Given the description of an element on the screen output the (x, y) to click on. 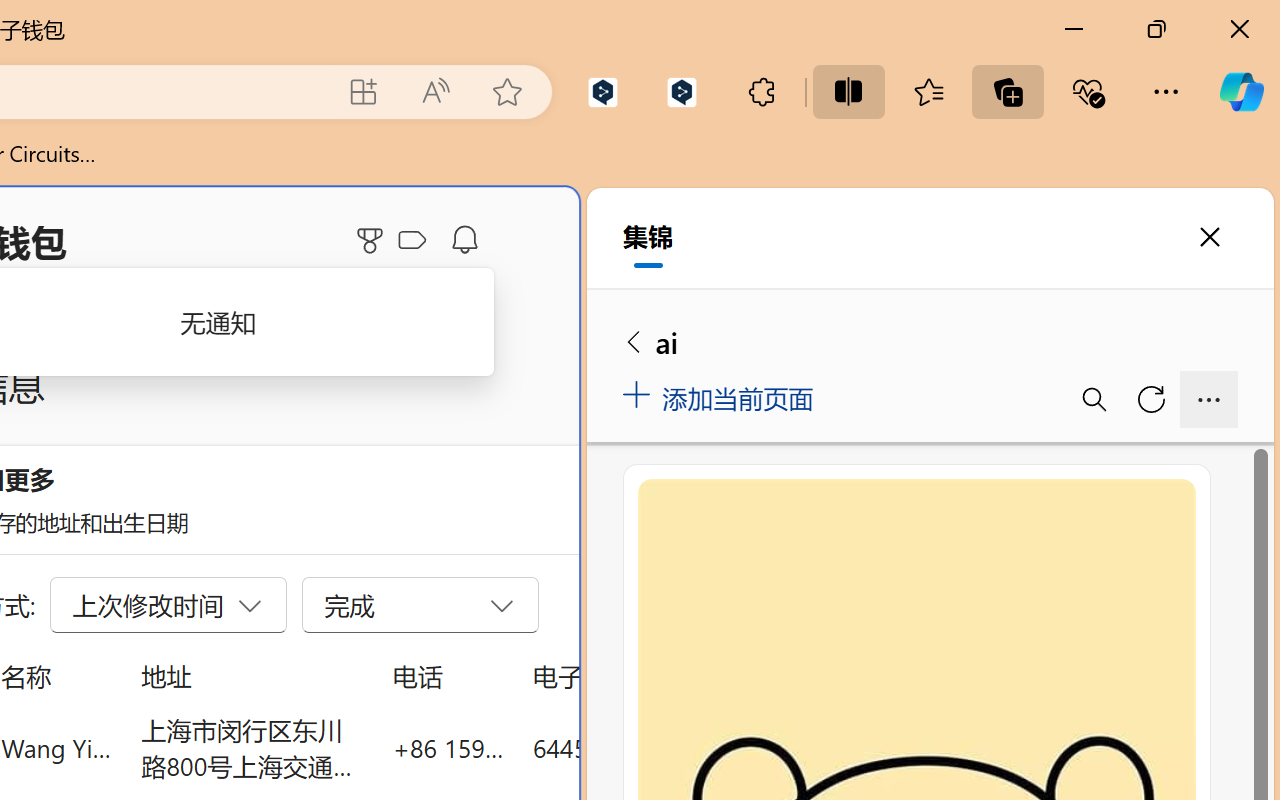
Class: ___1lmltc5 f1agt3bx f12qytpq (411, 241)
+86 159 0032 4640 (447, 747)
644553698@qq.com (644, 747)
Microsoft Cashback (415, 241)
